Given the description of an element on the screen output the (x, y) to click on. 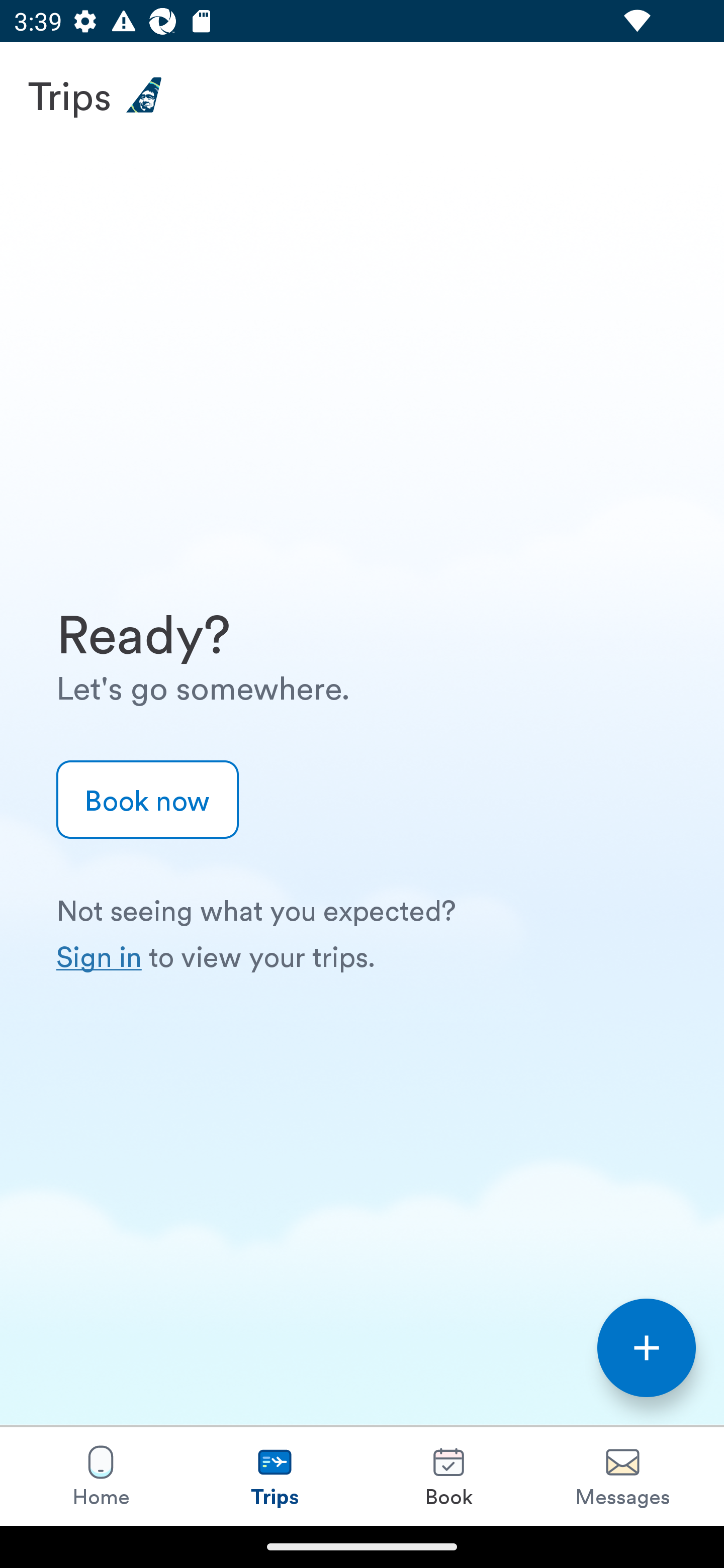
Book now (147, 799)
Home (100, 1475)
Trips (275, 1475)
Book (448, 1475)
Messages (622, 1475)
